Given the description of an element on the screen output the (x, y) to click on. 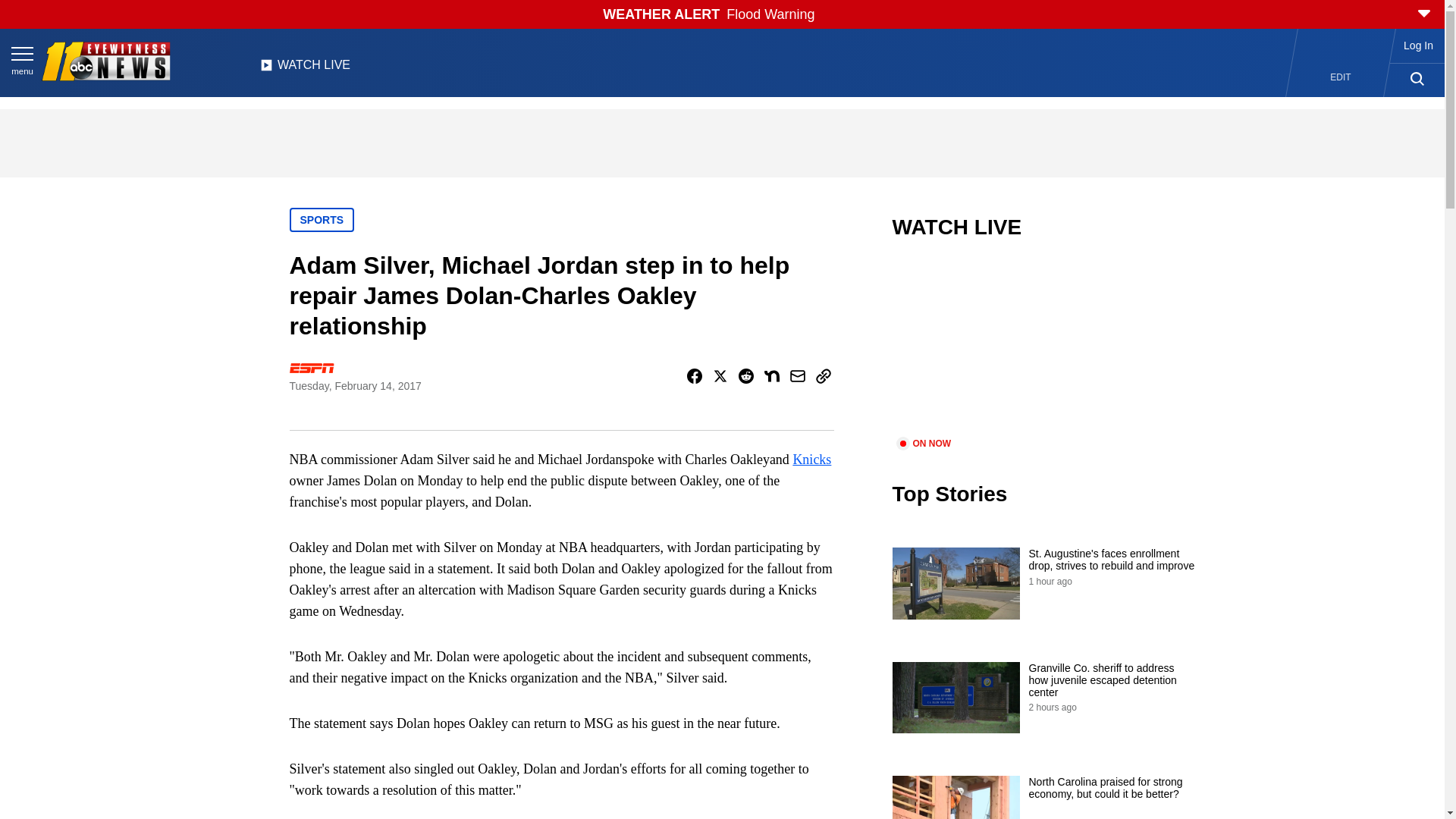
video.title (1043, 347)
WATCH LIVE (305, 69)
EDIT (1340, 77)
